Given the description of an element on the screen output the (x, y) to click on. 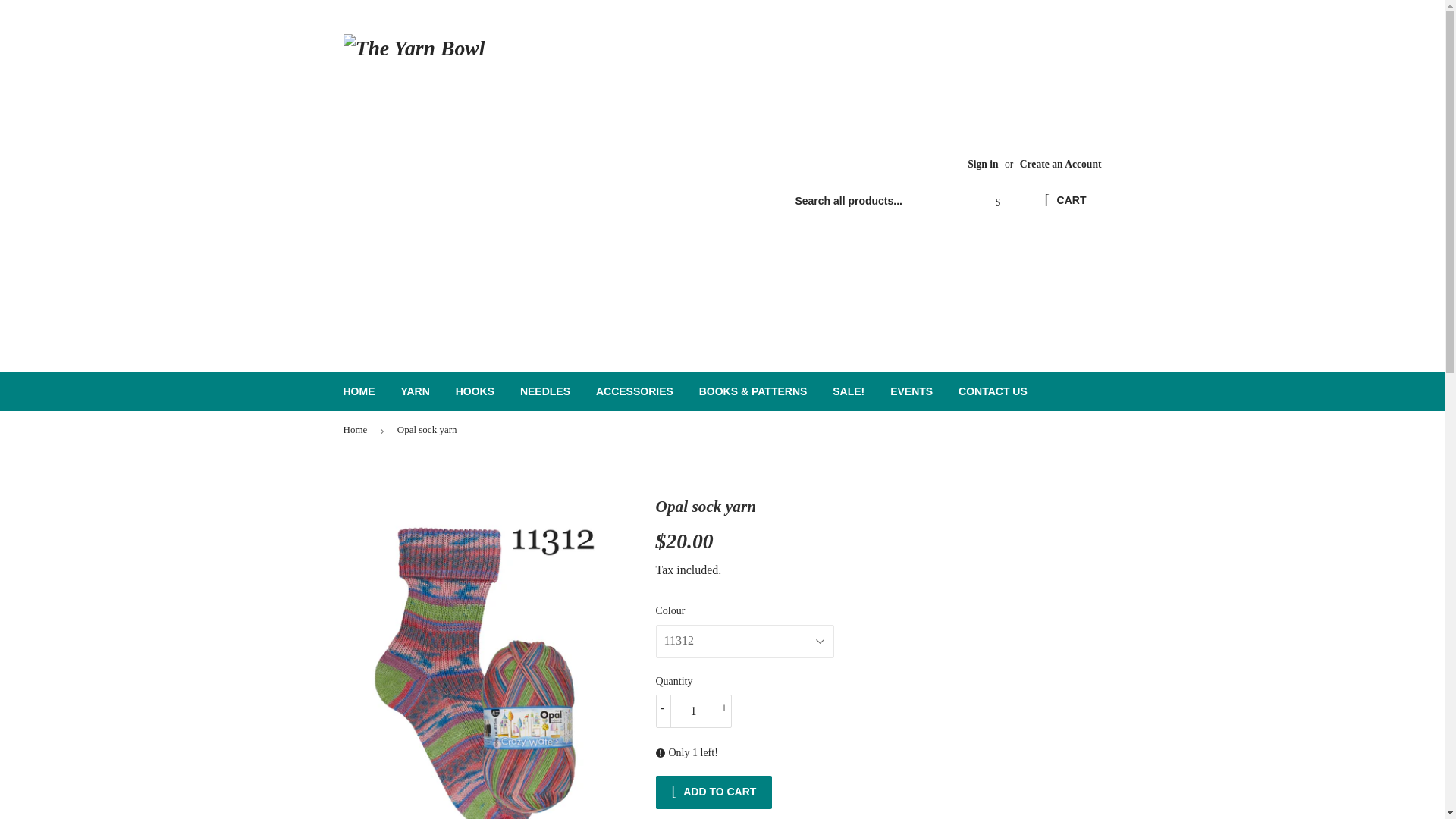
Create an Account (1061, 163)
CONTACT US (993, 391)
ACCESSORIES (634, 391)
Sign in (982, 163)
HOME (359, 391)
EVENTS (911, 391)
YARN (414, 391)
Search (996, 201)
CART (1064, 200)
HOOKS (474, 391)
SALE! (848, 391)
NEEDLES (544, 391)
1 (692, 711)
